Given the description of an element on the screen output the (x, y) to click on. 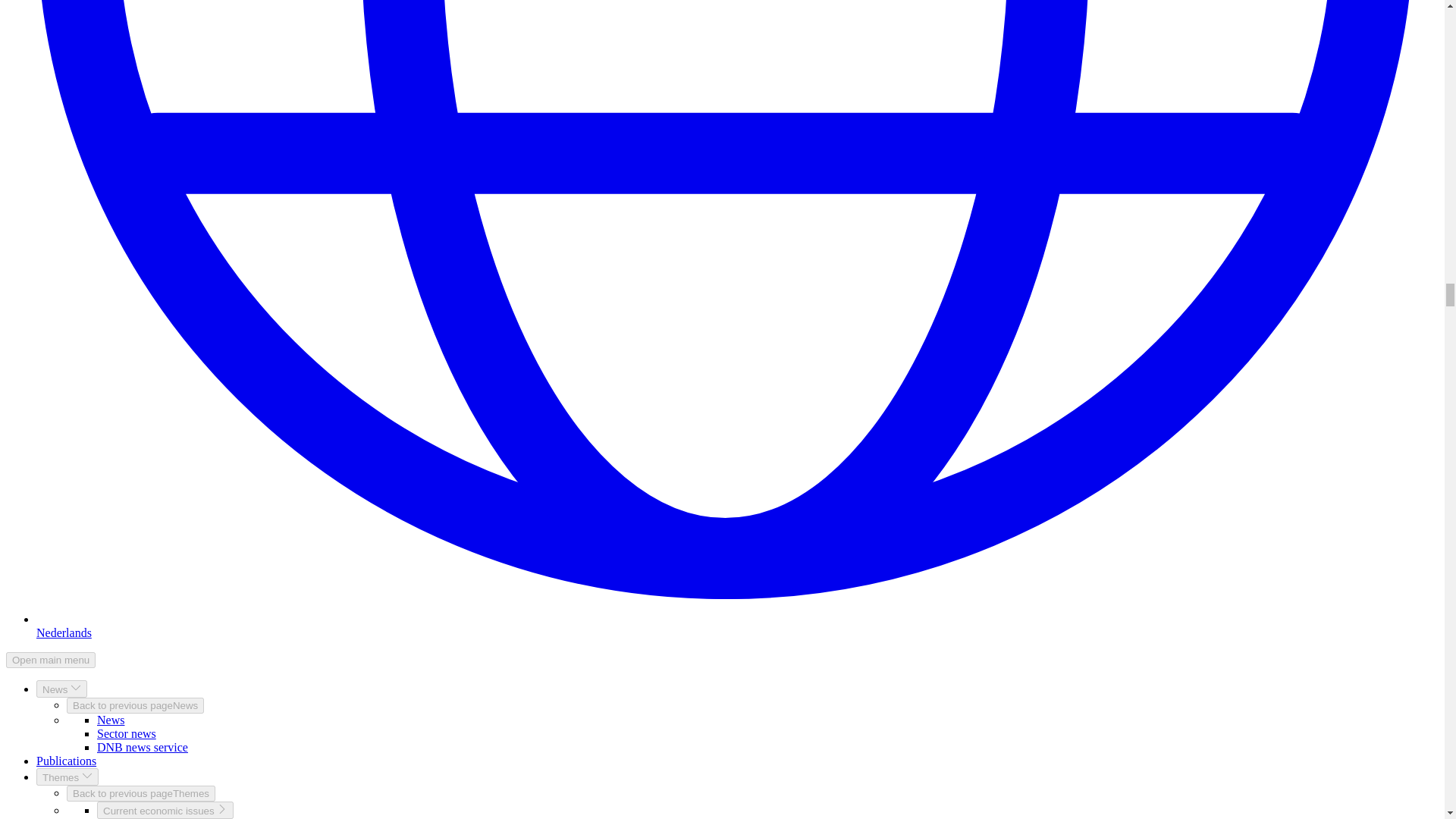
News (110, 719)
DNB news service (142, 747)
Current economic issues (164, 810)
Themes (67, 776)
Back to previous pageNews (134, 705)
Open main menu (50, 659)
Sector news (126, 733)
Publications (66, 760)
Back to previous pageThemes (140, 793)
News (61, 688)
